Given the description of an element on the screen output the (x, y) to click on. 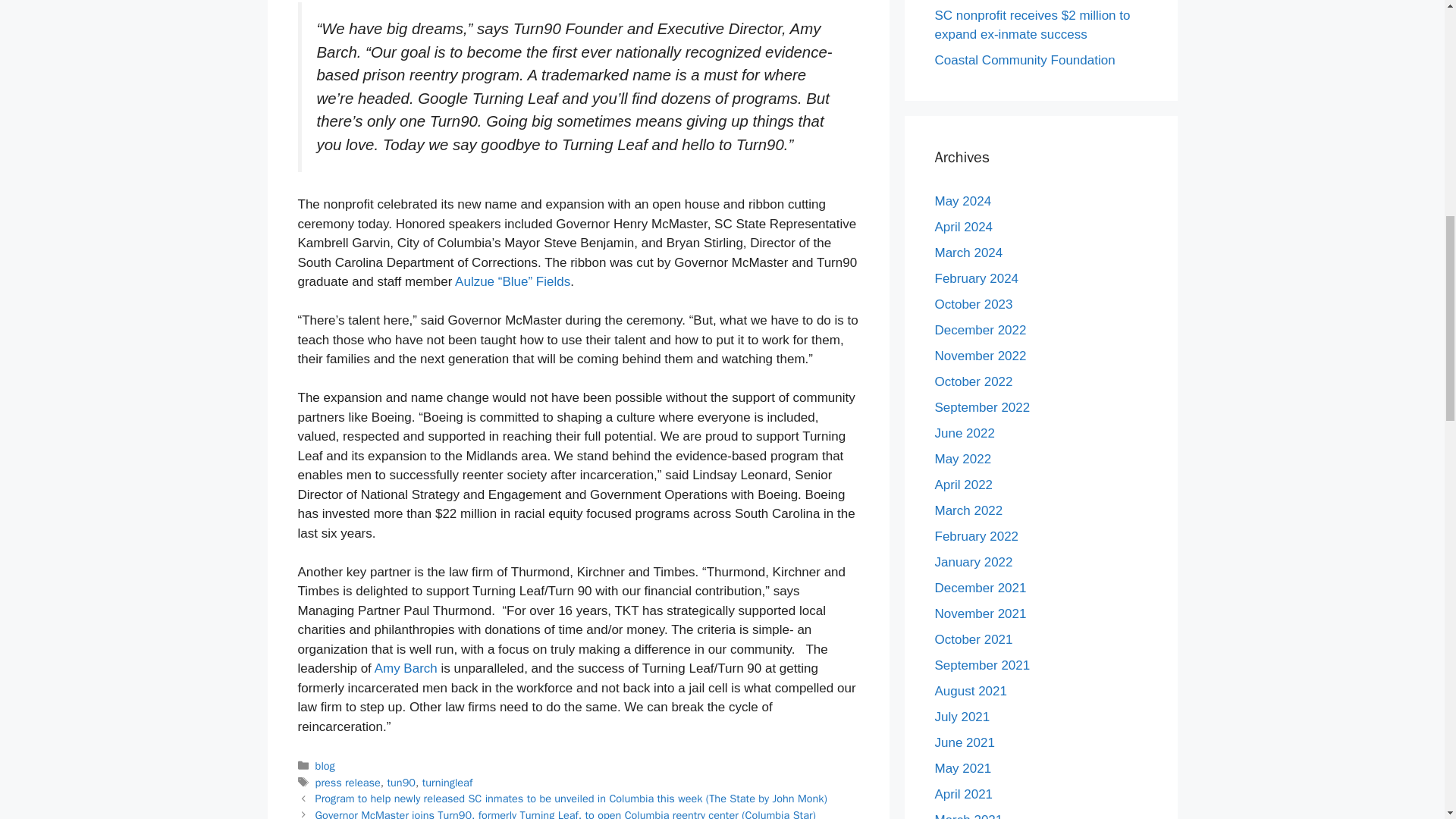
February 2024 (975, 278)
Coastal Community Foundation (1024, 60)
December 2022 (980, 329)
May 2024 (962, 201)
blog (324, 766)
tun90 (400, 782)
press release (347, 782)
Amy Barch (406, 667)
turningleaf (447, 782)
November 2022 (980, 355)
